Given the description of an element on the screen output the (x, y) to click on. 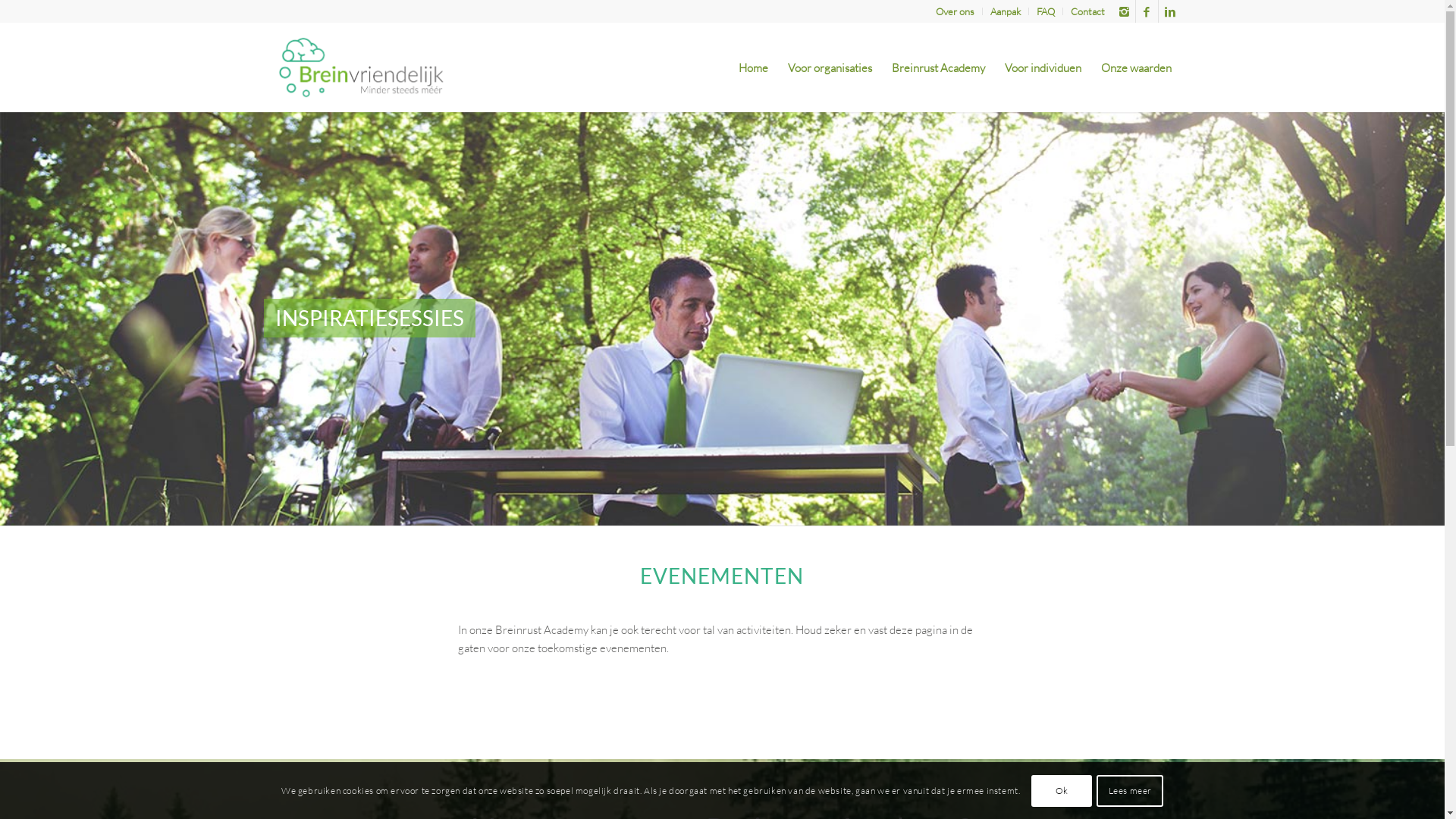
Breinrust Academy Element type: text (937, 67)
Voor individuen Element type: text (1042, 67)
Onze waarden Element type: text (1135, 67)
Over ons Element type: text (954, 11)
Home Element type: text (752, 67)
Voor organisaties Element type: text (829, 67)
Ok Element type: text (1061, 790)
Instagram Element type: hover (1124, 11)
Inspiratiesessies-Breinvriendelijk Element type: hover (722, 318)
Lees meer Element type: text (1129, 790)
Aanpak Element type: text (1005, 11)
Facebook Element type: hover (1146, 11)
Contact Element type: text (1087, 11)
FAQ Element type: text (1044, 11)
Linkedin Element type: hover (1169, 11)
